Given the description of an element on the screen output the (x, y) to click on. 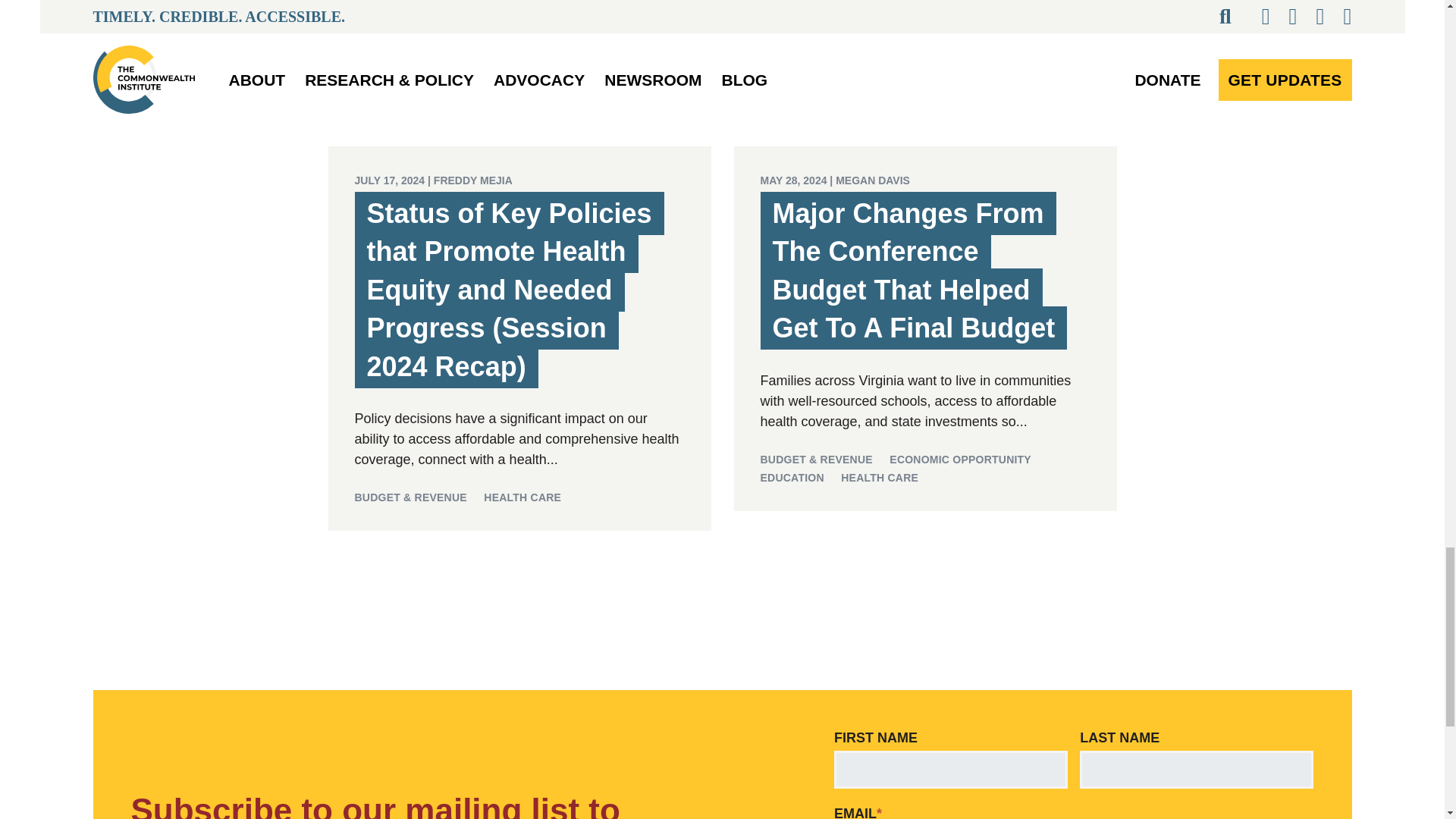
EDUCATION (792, 477)
HEALTH CARE (521, 497)
ECONOMIC OPPORTUNITY (959, 459)
